Given the description of an element on the screen output the (x, y) to click on. 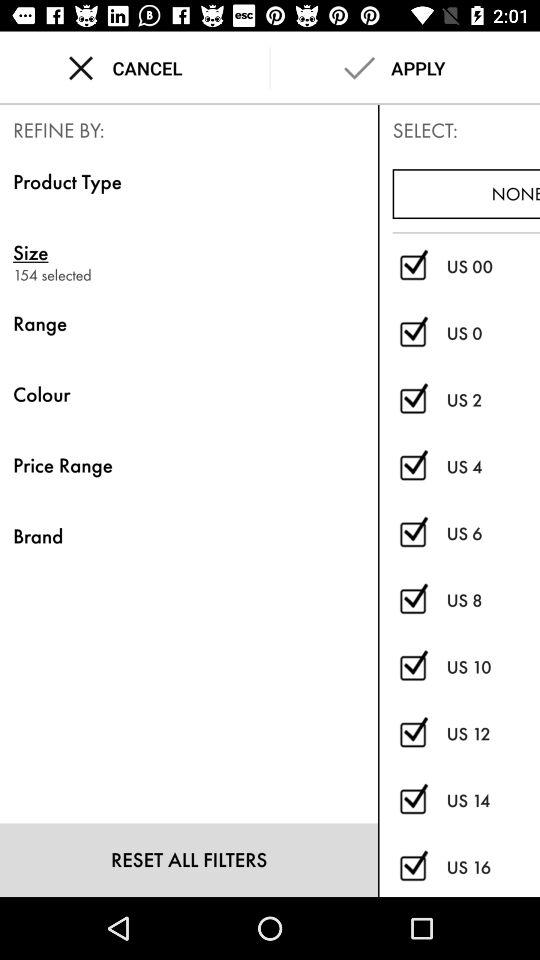
deselect search filter option (412, 533)
